Given the description of an element on the screen output the (x, y) to click on. 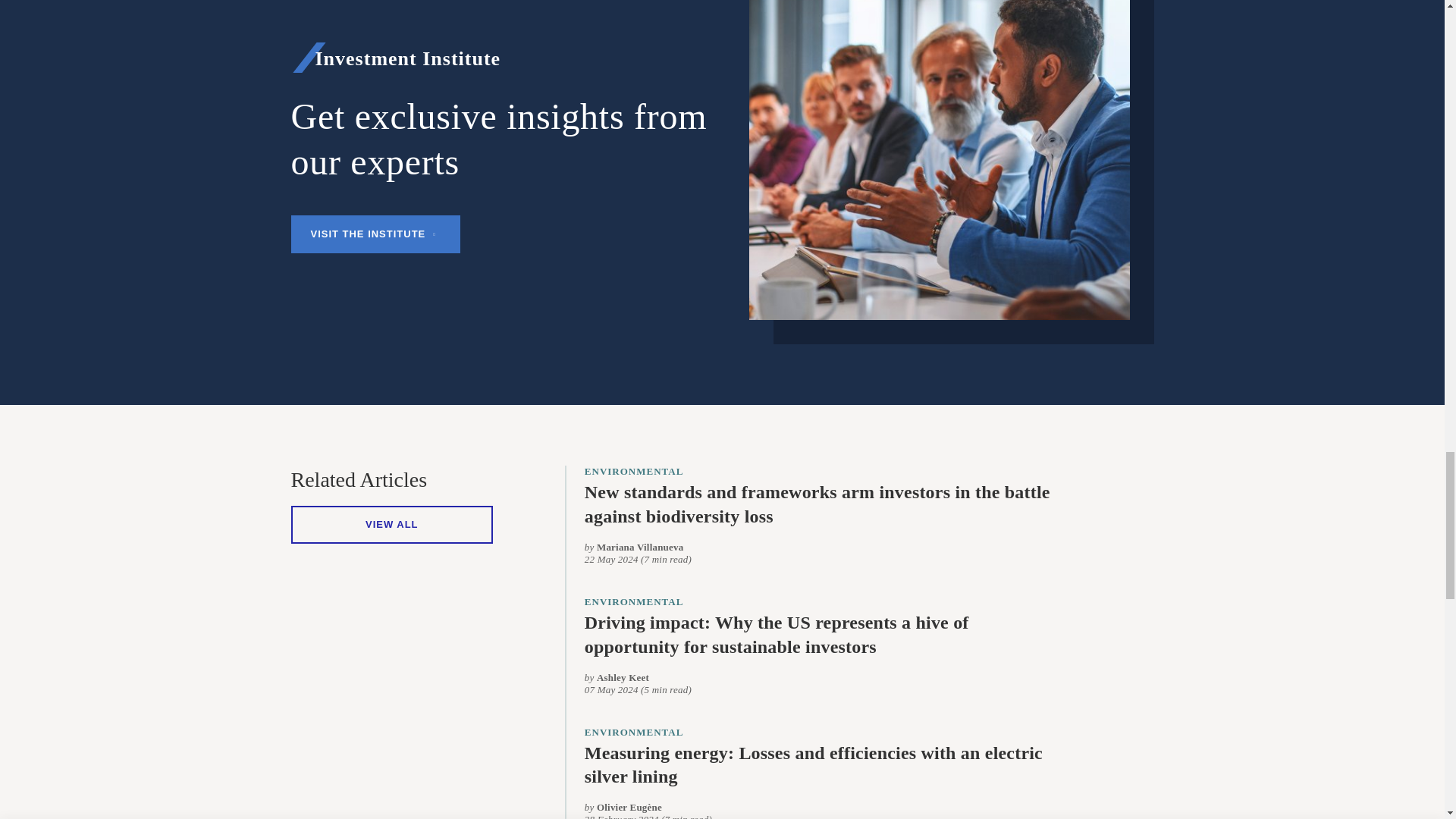
Visit the institute (376, 234)
